Given the description of an element on the screen output the (x, y) to click on. 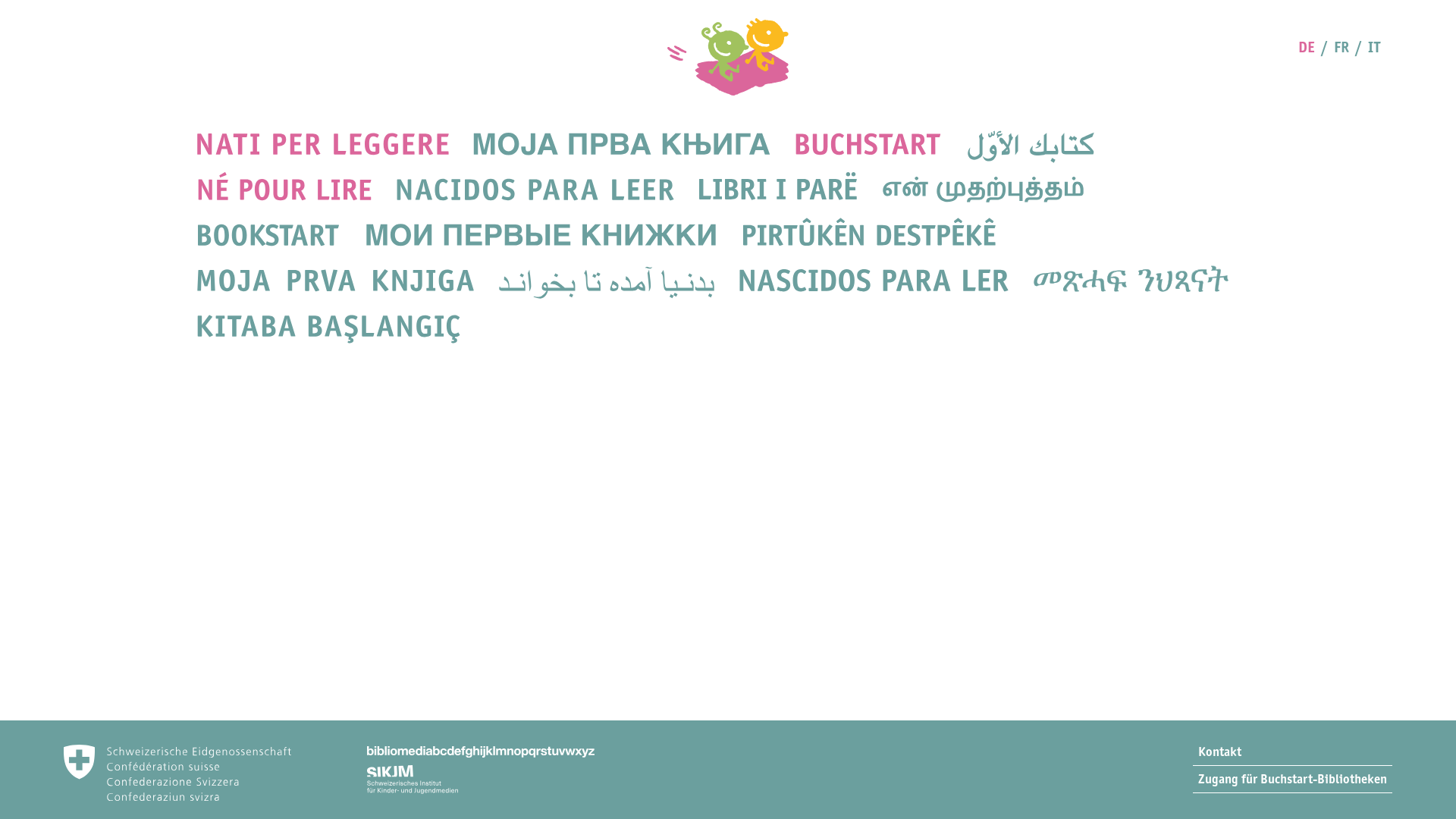
IT Element type: text (1374, 46)
DE Element type: text (1306, 46)
Kontakt Element type: text (1292, 751)
FR Element type: text (1341, 46)
